Given the description of an element on the screen output the (x, y) to click on. 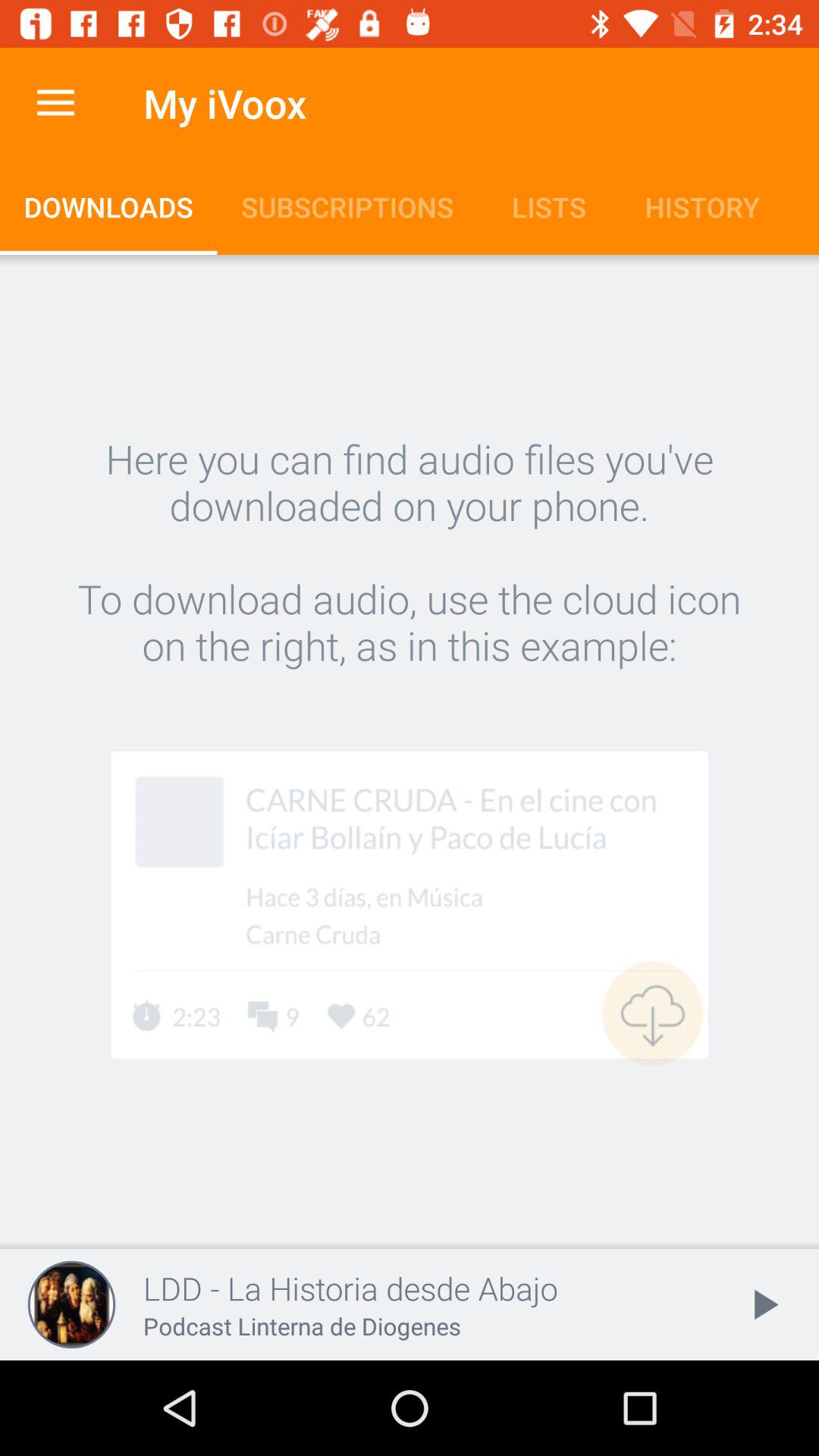
open item to the left of my ivoox (55, 103)
